Given the description of an element on the screen output the (x, y) to click on. 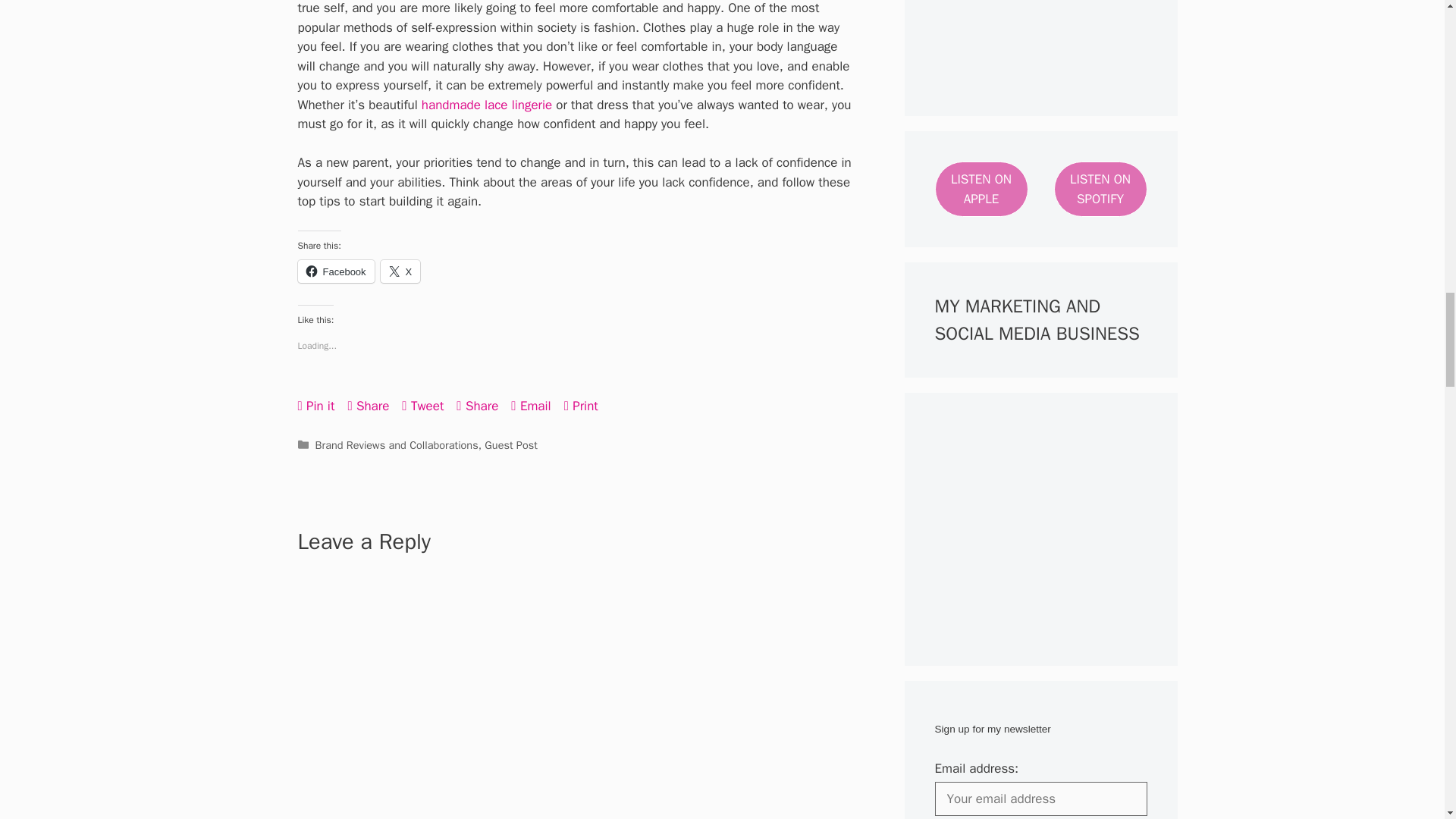
Click to share on X (400, 271)
Facebook (335, 271)
Tweet (422, 405)
Share (477, 405)
Print (581, 405)
Share by Email (530, 405)
Pin it (315, 405)
Share (367, 405)
X (400, 271)
Click to share on Facebook (335, 271)
